Given the description of an element on the screen output the (x, y) to click on. 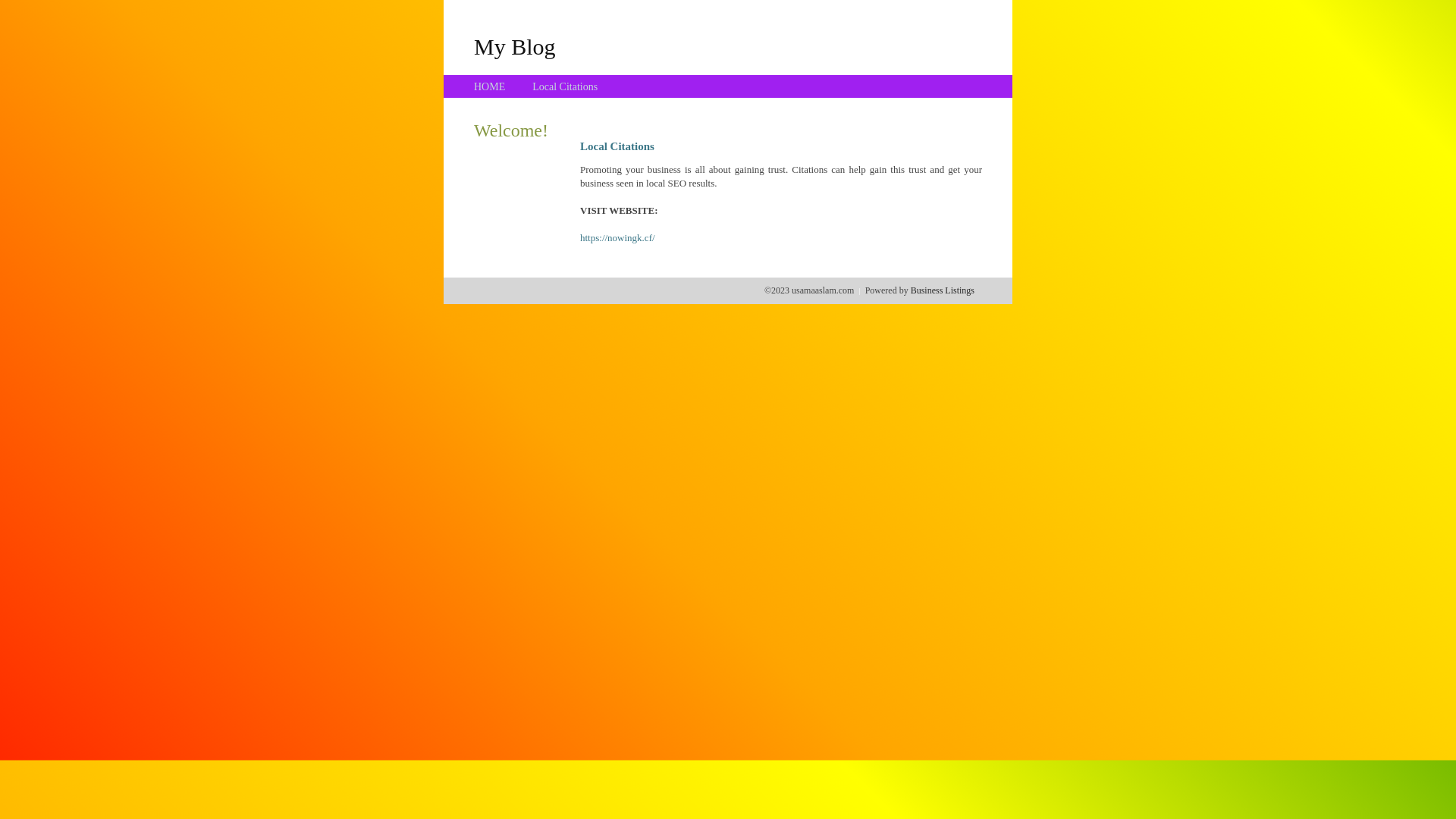
Business Listings Element type: text (942, 290)
My Blog Element type: text (514, 46)
HOME Element type: text (489, 86)
Local Citations Element type: text (564, 86)
https://nowingk.cf/ Element type: text (617, 237)
